Given the description of an element on the screen output the (x, y) to click on. 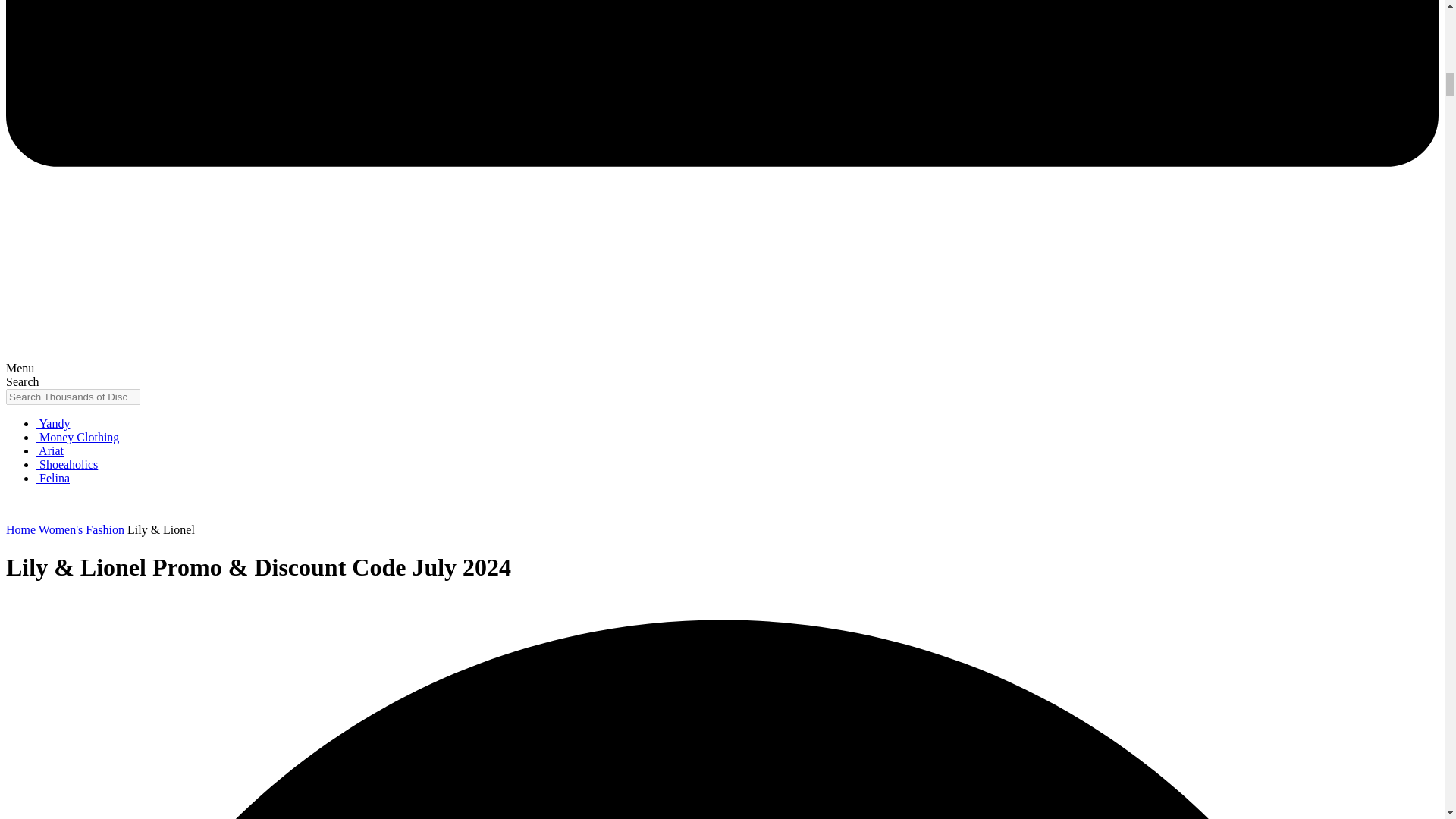
Women's Fashion (81, 529)
Ariat (50, 450)
Yandy (52, 422)
Home (19, 529)
Felina (52, 477)
Money Clothing (77, 436)
Shoeaholics (66, 463)
